Given the description of an element on the screen output the (x, y) to click on. 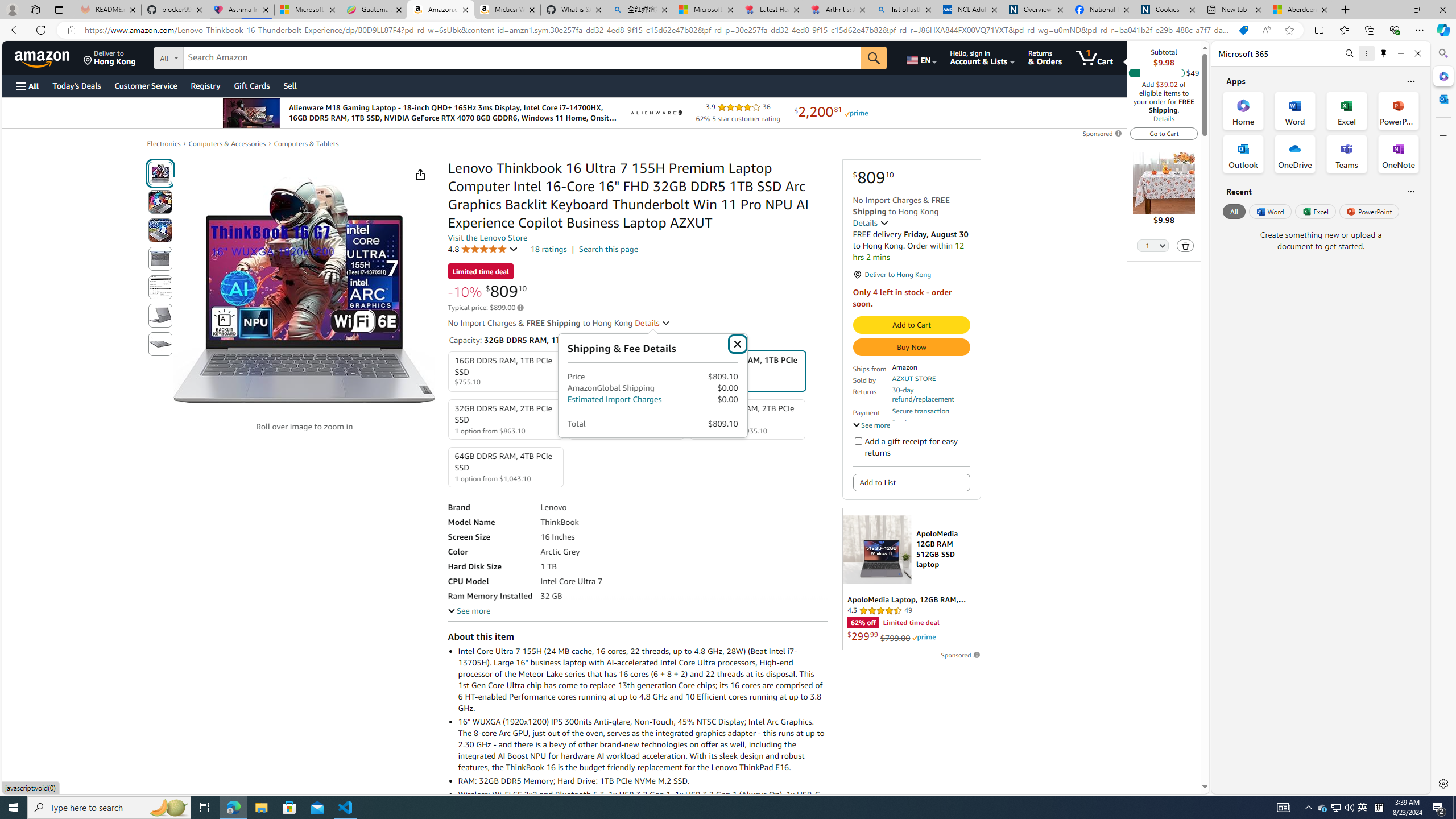
Teams Office App (1346, 154)
Today's Deals (76, 85)
Hello, sign in Account & Lists (982, 57)
Add a gift receipt for easy returns (857, 440)
Delete (1184, 245)
18 ratings (547, 248)
OneDrive Office App (1295, 154)
4.8 4.8 out of 5 stars (482, 248)
64GB DDR5 RAM, 1TB PCIe SSD 1 option from $881.10 (626, 418)
Details  (652, 322)
PowerPoint (1369, 210)
Share (419, 174)
